Given the description of an element on the screen output the (x, y) to click on. 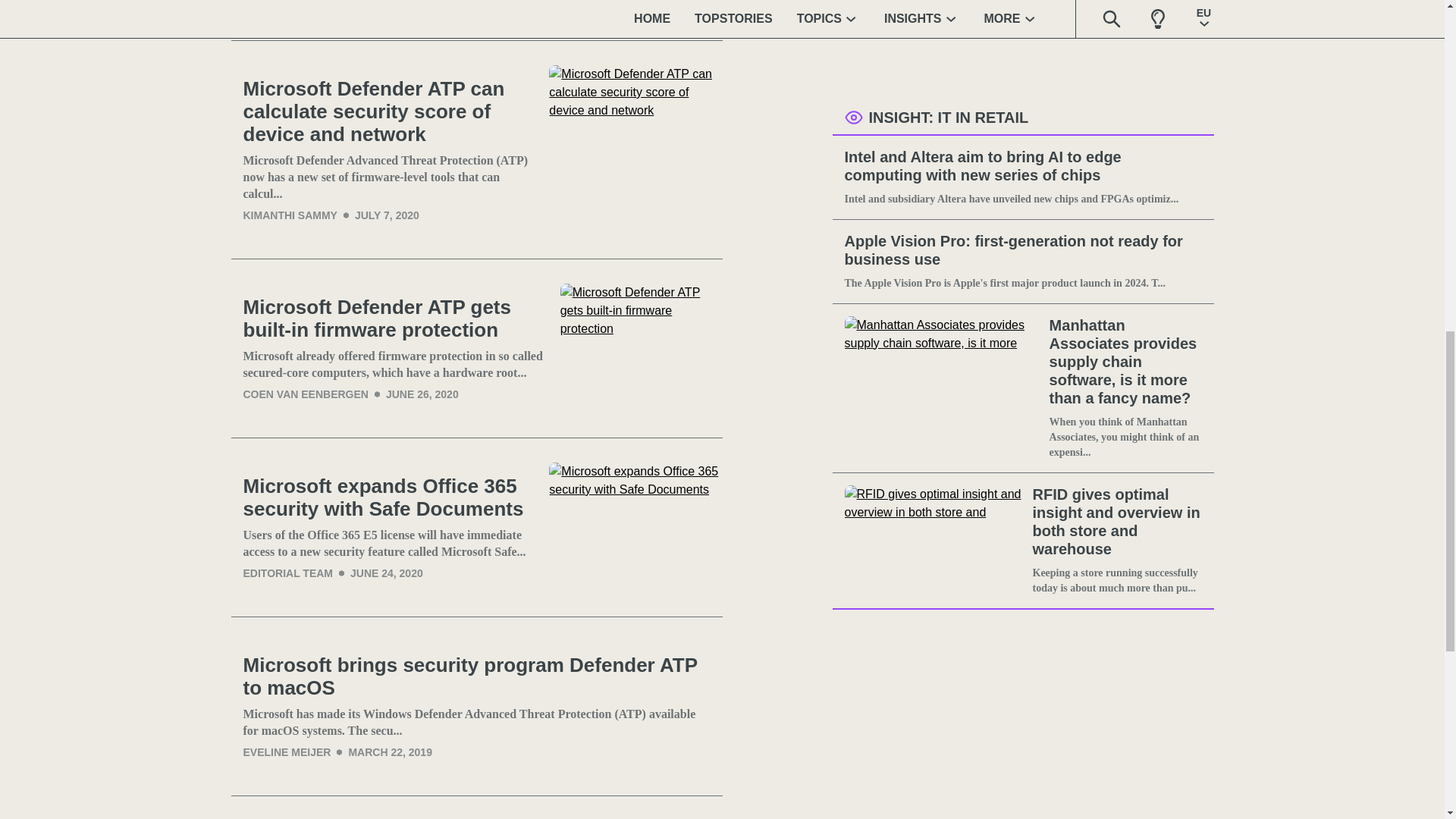
Microsoft Defender ATP gets built-in firmware protection (641, 348)
Microsoft expands Office 365 security with Safe Documents (635, 527)
Microsoft Defender ATP gets built-in firmware protection (395, 318)
Microsoft expands Office 365 security with Safe Documents (390, 497)
Microsoft brings security program Defender ATP to macOS (476, 676)
